Given the description of an element on the screen output the (x, y) to click on. 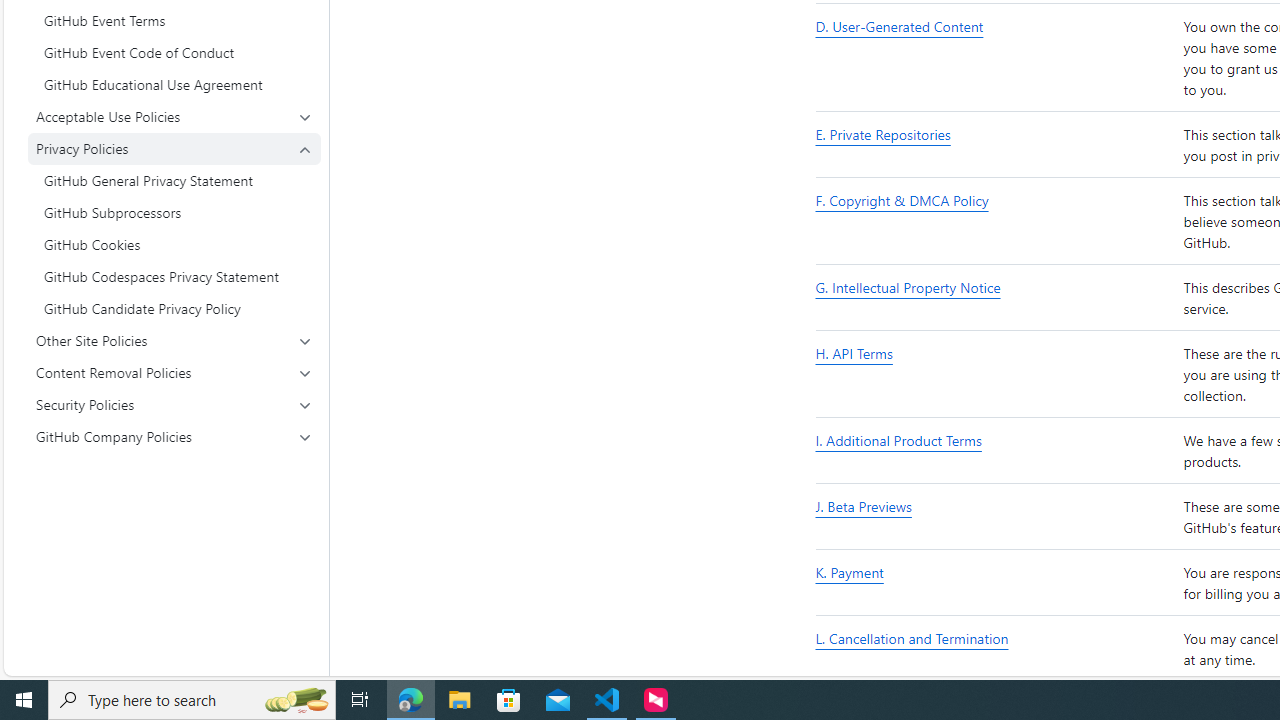
Privacy Policies (174, 148)
GitHub General Privacy Statement (174, 180)
E. Private Repositories (883, 134)
I. Additional Product Terms (898, 440)
GitHub Company Policies (174, 436)
Acceptable Use Policies (174, 116)
GitHub Event Code of Conduct (174, 52)
K. Payment (849, 573)
G. Intellectual Property Notice (995, 297)
J. Beta Previews (995, 516)
Other Site Policies (174, 340)
K. Payment (995, 583)
D. User-Generated Content (899, 26)
Acceptable Use Policies (174, 116)
Security Policies (174, 404)
